Given the description of an element on the screen output the (x, y) to click on. 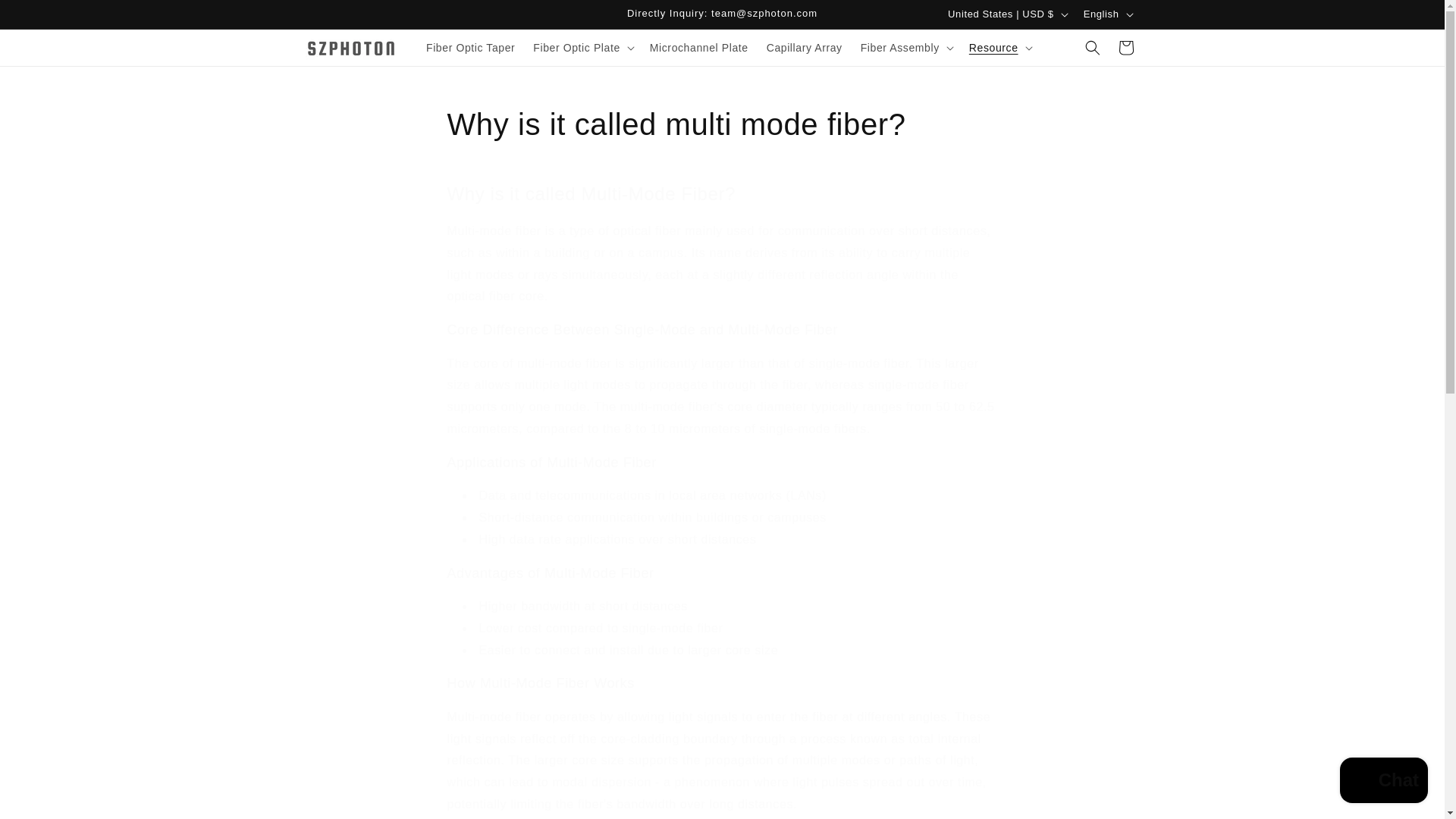
English (1107, 14)
Skip to content (45, 17)
Why is it called multi mode fiber? (721, 124)
Microchannel Plate (698, 47)
Fiber Optic Taper (470, 47)
Capillary Array (804, 47)
Shopify online store chat (1383, 781)
